Given the description of an element on the screen output the (x, y) to click on. 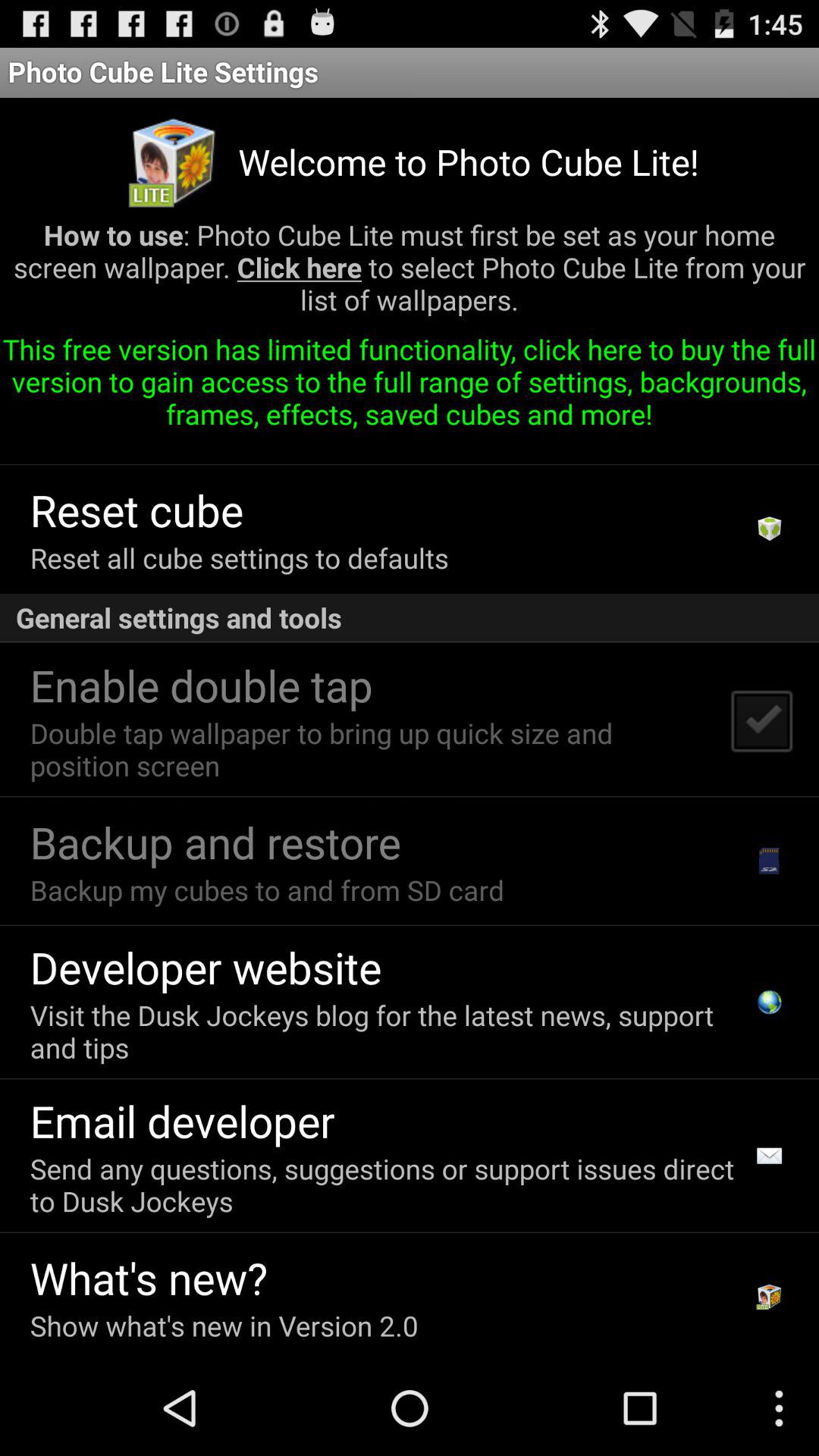
choose the how to use (409, 273)
